Given the description of an element on the screen output the (x, y) to click on. 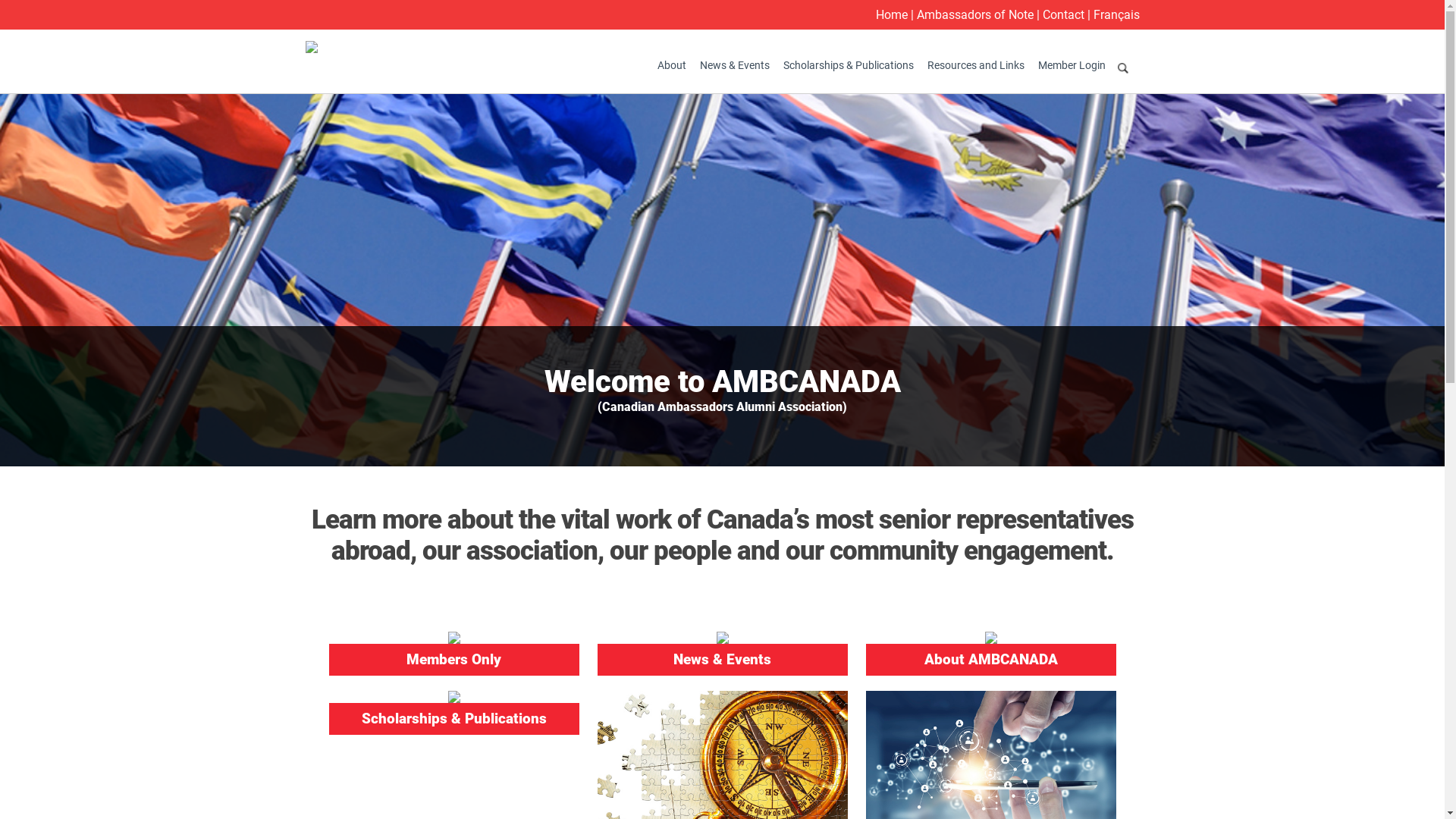
Home Element type: text (890, 14)
Resources and Links Element type: text (975, 65)
About Element type: text (671, 65)
Member Login Element type: text (1071, 65)
News & Events Element type: text (734, 65)
Scholarships & Publications Element type: text (848, 65)
Ambassadors of Note Element type: text (974, 14)
Contact Element type: text (1062, 14)
